Given the description of an element on the screen output the (x, y) to click on. 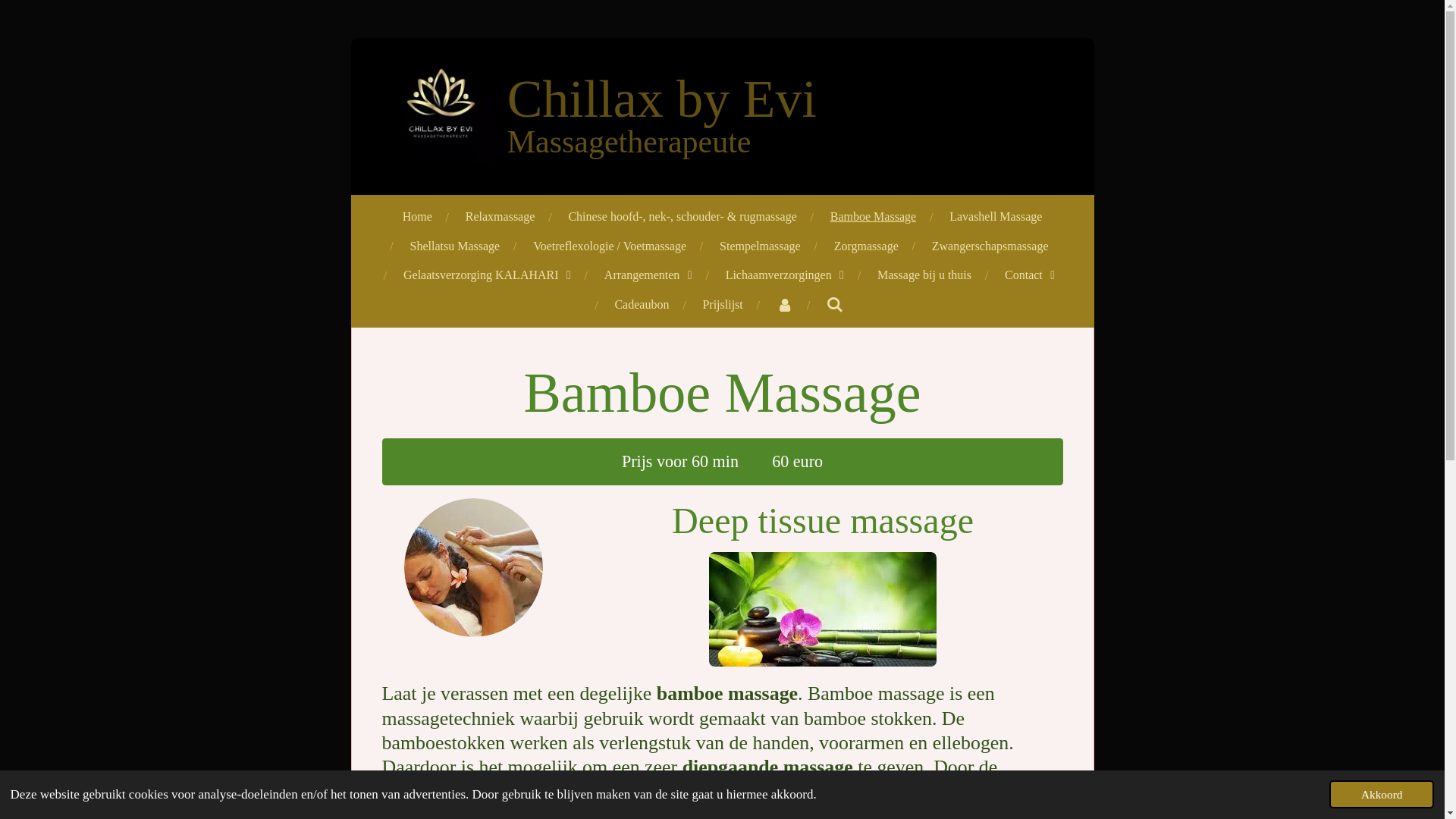
Contact Element type: text (1029, 275)
Bamboe Massage Element type: text (872, 217)
Gelaatsverzorging KALAHARI Element type: text (486, 275)
Chinese hoofd-, nek-, schouder- & rugmassage Element type: text (682, 217)
Akkoord Element type: text (1381, 794)
Voetreflexologie / Voetmassage Element type: text (609, 246)
Arrangementen Element type: text (648, 275)
Chillax by Evi - Massage therapeute Zwijndrecht - Burcht Element type: hover (439, 111)
Lavashell Massage Element type: text (995, 217)
Chillax by Evi Massagetherapeute Element type: text (661, 125)
Zwangerschapsmassage Element type: text (990, 246)
Account Element type: hover (784, 305)
Shellatsu Massage Element type: text (455, 246)
Prijs voor 60 min        60 euro Element type: text (722, 461)
Home Element type: text (417, 217)
Cadeaubon Element type: text (641, 305)
Zoeken Element type: hover (834, 305)
Relaxmassage Element type: text (500, 217)
Prijslijst Element type: text (722, 305)
Stempelmassage Element type: text (759, 246)
Lichaamverzorgingen Element type: text (784, 275)
Zorgmassage Element type: text (866, 246)
Massage bij u thuis Element type: text (924, 275)
